Given the description of an element on the screen output the (x, y) to click on. 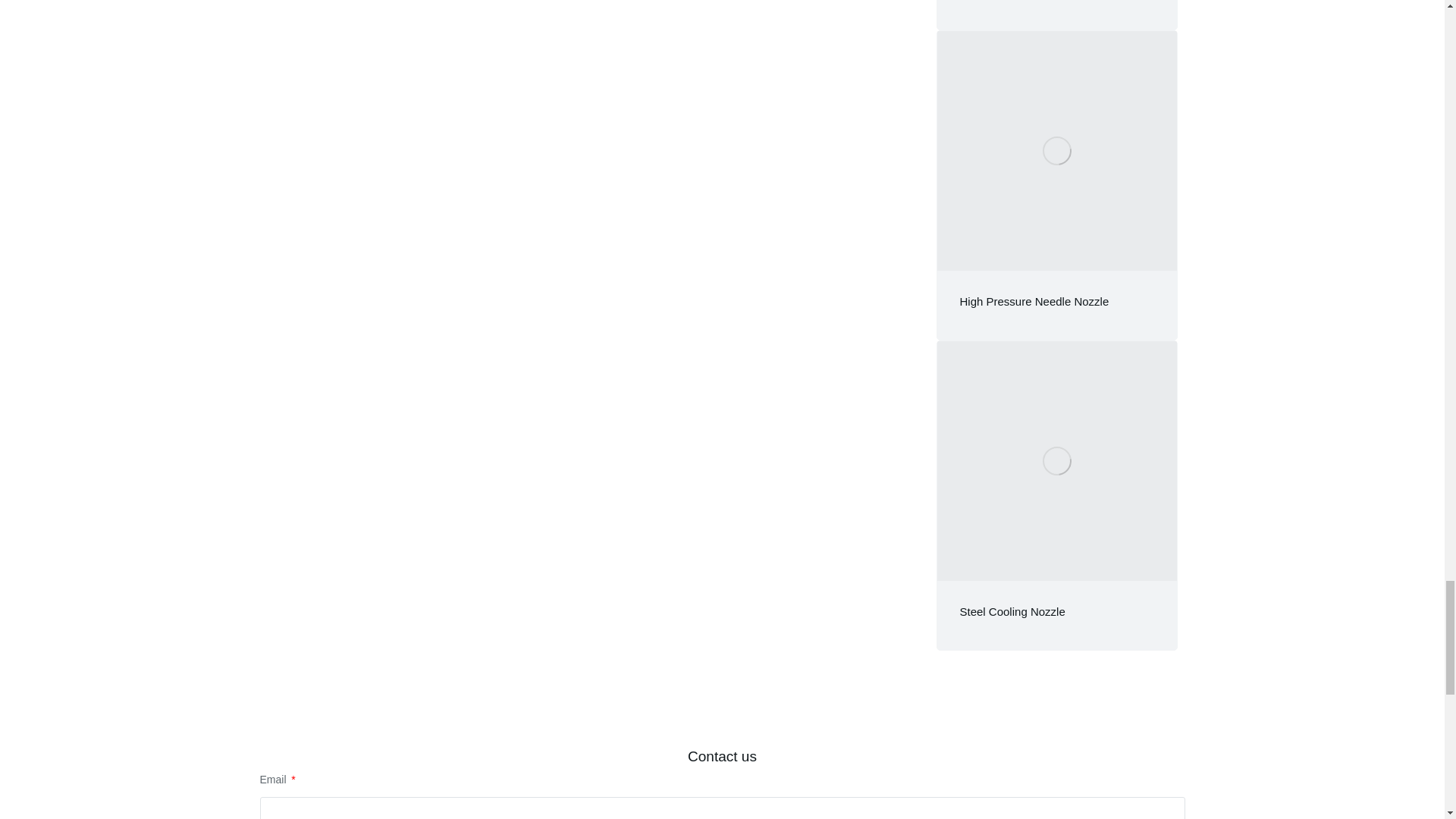
High Pressure Needle Nozzle (1034, 300)
